Given the description of an element on the screen output the (x, y) to click on. 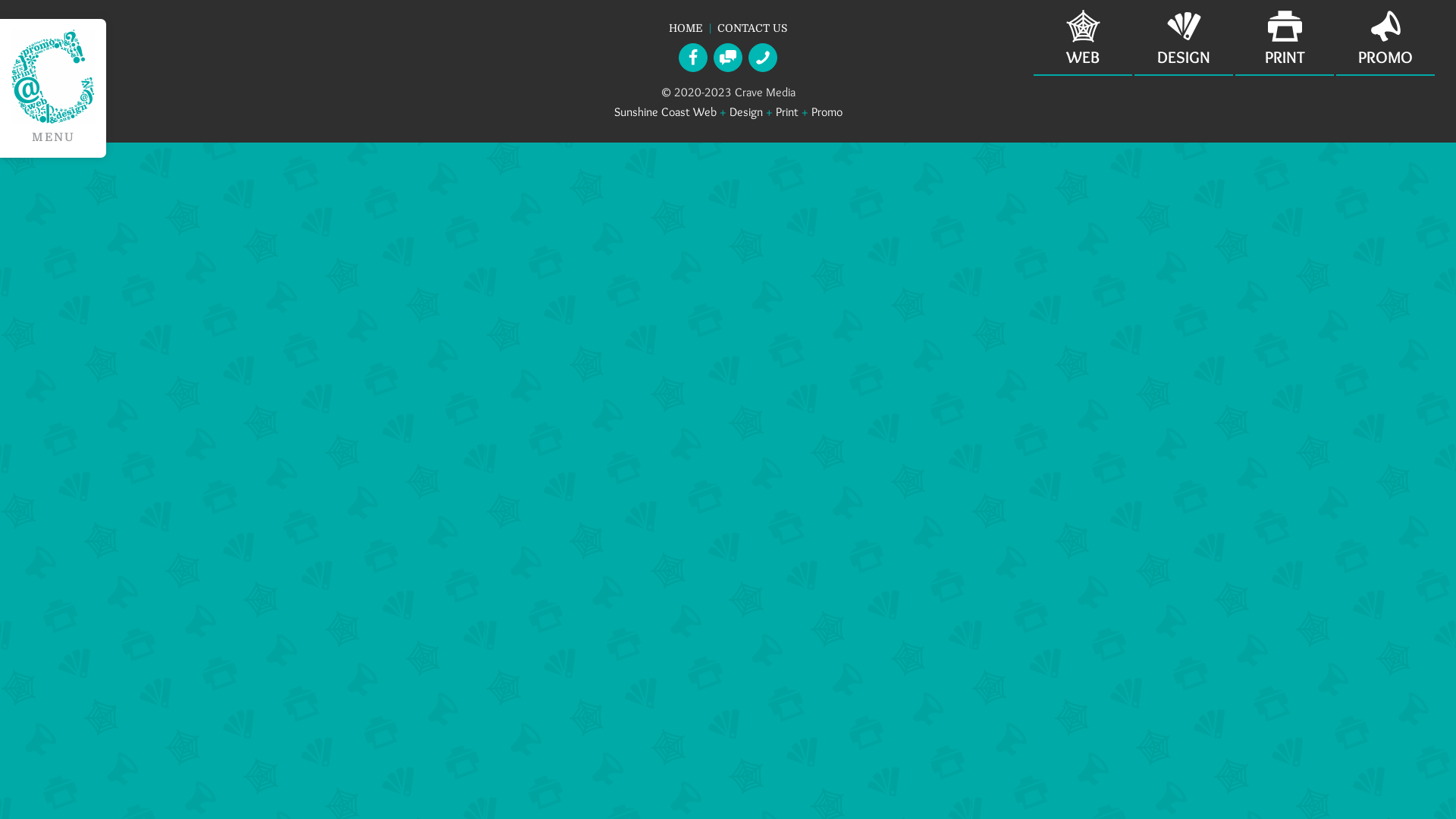
Sunshine Coast Web Element type: text (665, 111)
DESIGN Element type: text (1183, 37)
Print Element type: text (786, 111)
Design Element type: text (745, 111)
HOME Element type: text (685, 27)
Promo Element type: text (826, 111)
PROMO Element type: text (1385, 37)
WEB Element type: text (1082, 37)
CONTACT US Element type: text (752, 27)
PRINT Element type: text (1284, 37)
